Given the description of an element on the screen output the (x, y) to click on. 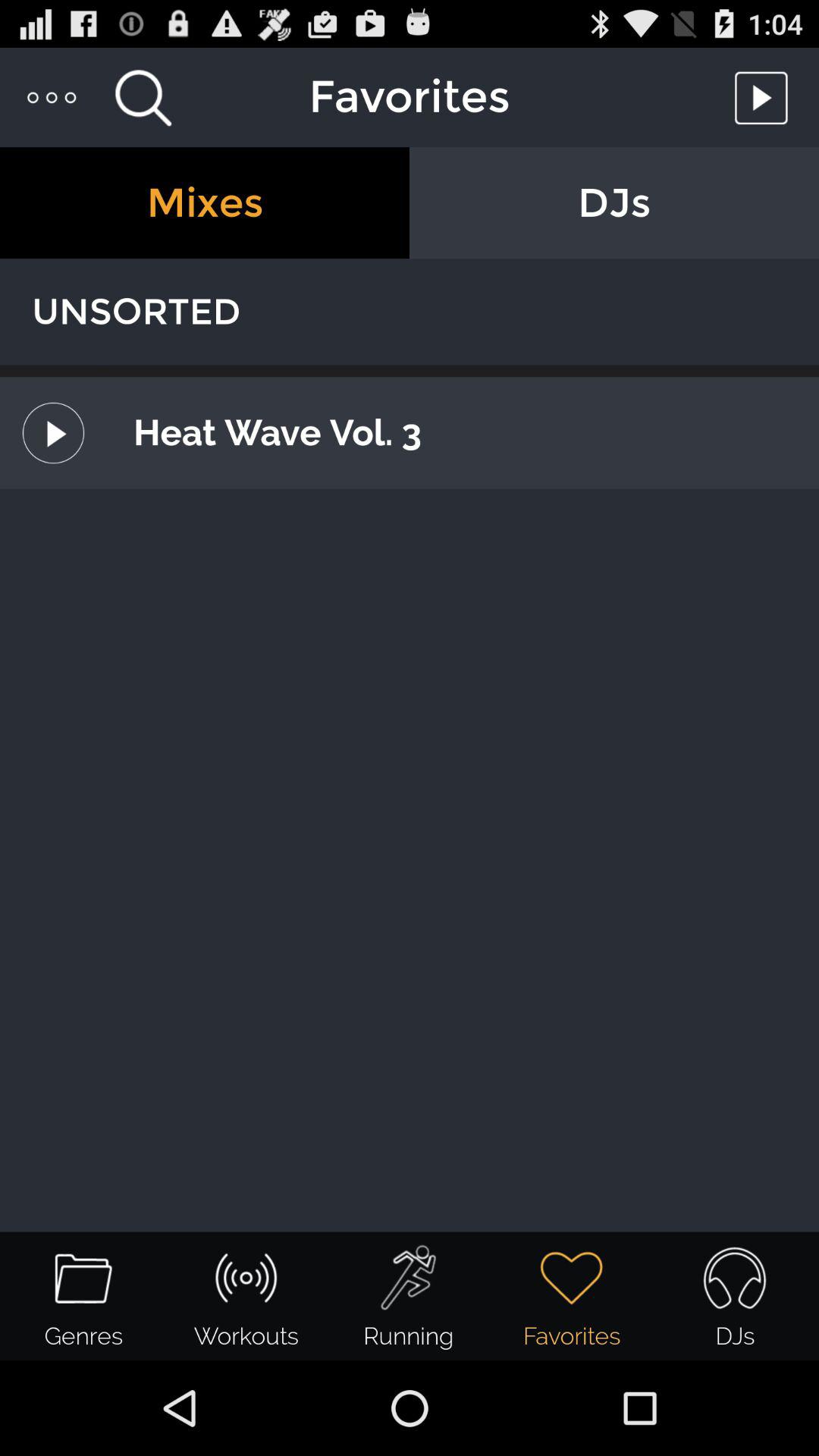
press the icon above mixes (142, 97)
